Given the description of an element on the screen output the (x, y) to click on. 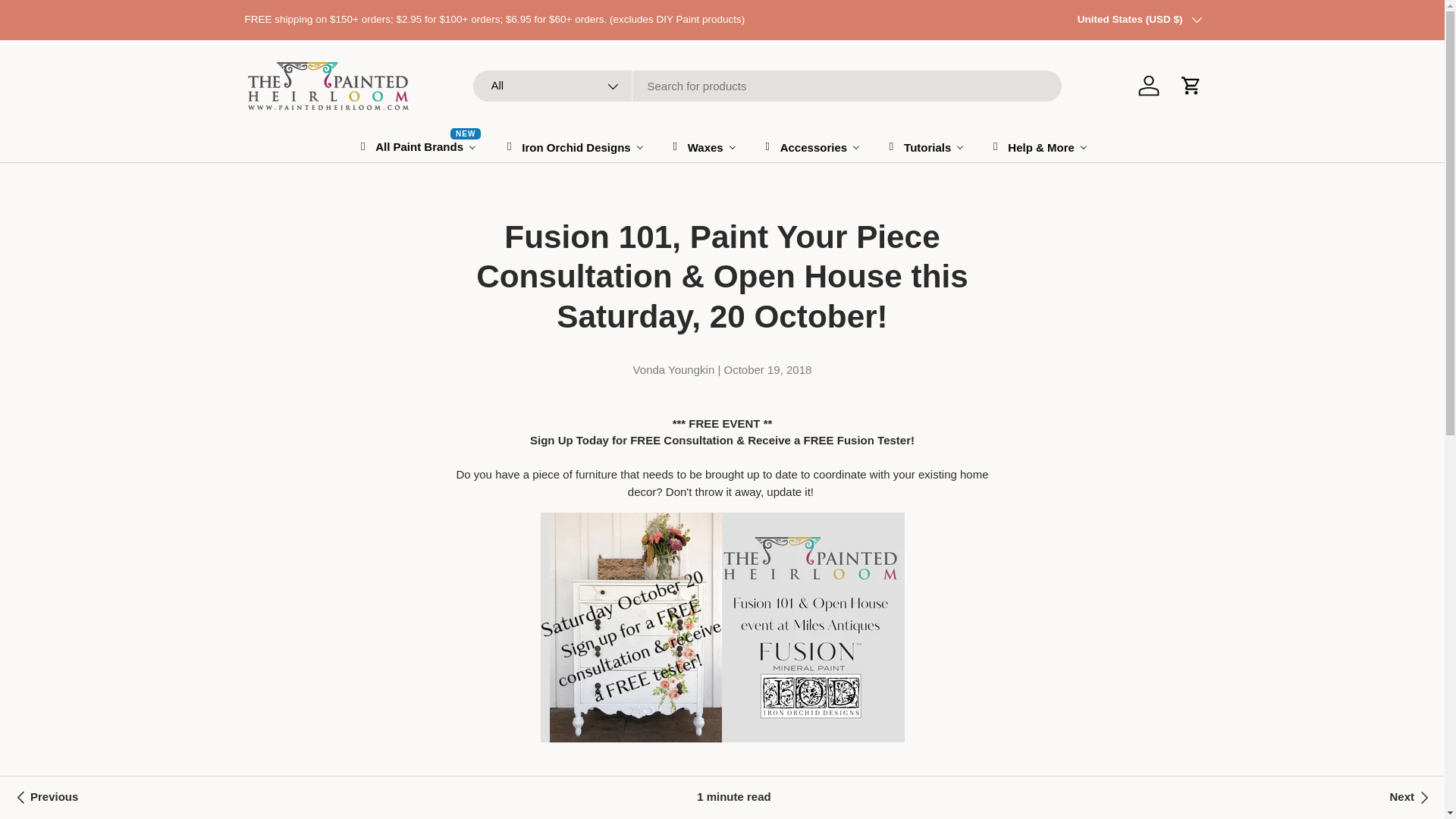
All (552, 85)
Click for info! (1099, 26)
Online Store Now Open! (1410, 797)
Skip to content (68, 21)
Cart (1190, 85)
Iron Orchid Designs (572, 146)
The Painted Heirloom Rewards Program (1099, 26)
Log in (417, 146)
